Given the description of an element on the screen output the (x, y) to click on. 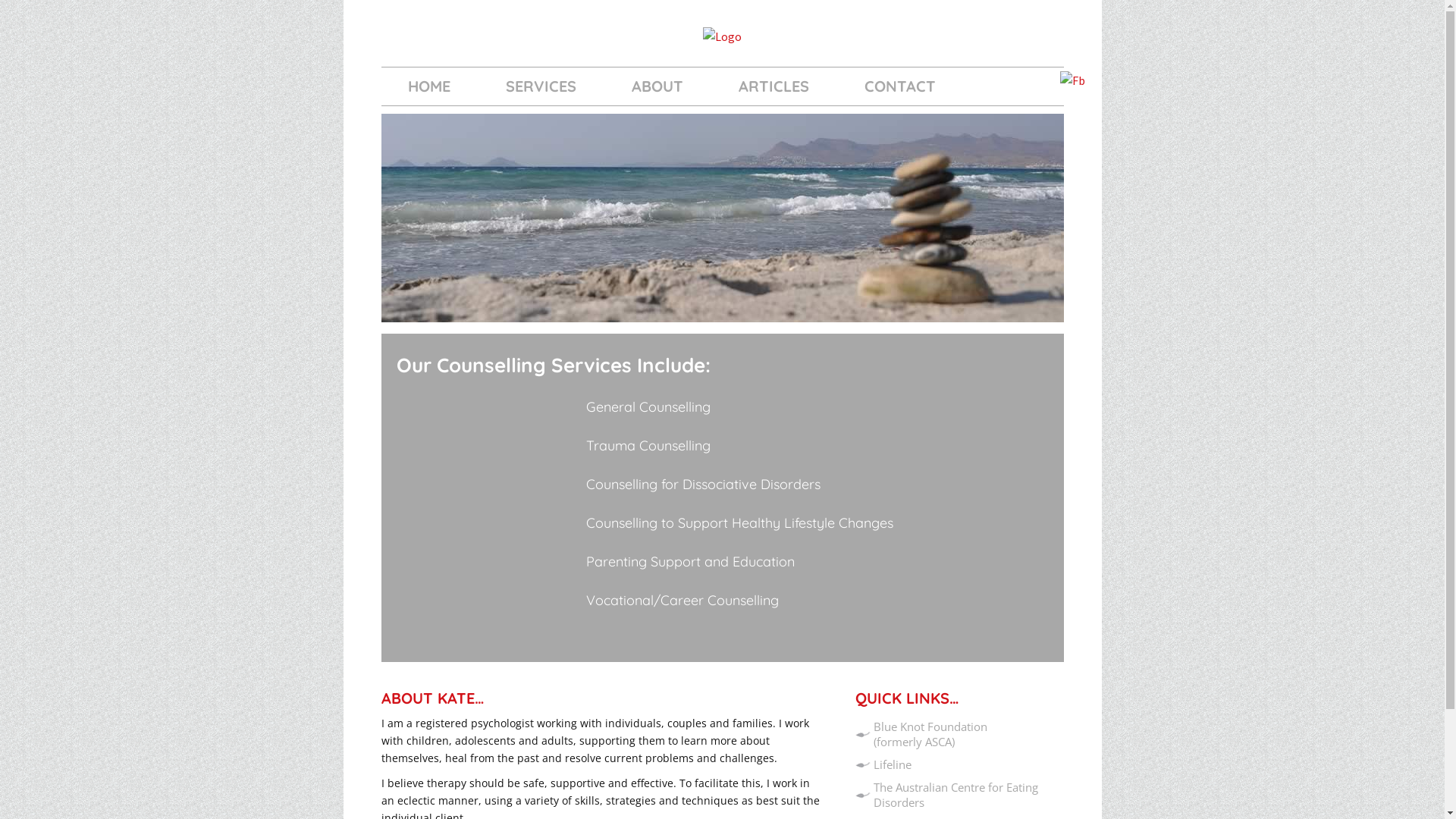
HOME Element type: text (428, 86)
Lifeline Element type: text (892, 763)
General Counselling Element type: text (647, 406)
SERVICES Element type: text (540, 86)
ABOUT Element type: text (657, 86)
ABOUT KATE Element type: text (426, 697)
CONTACT Element type: text (899, 86)
Blue Knot Foundation
(formerly ASCA) Element type: text (930, 733)
ARTICLES Element type: text (772, 86)
The Australian Centre for Eating Disorders Element type: text (955, 794)
